Given the description of an element on the screen output the (x, y) to click on. 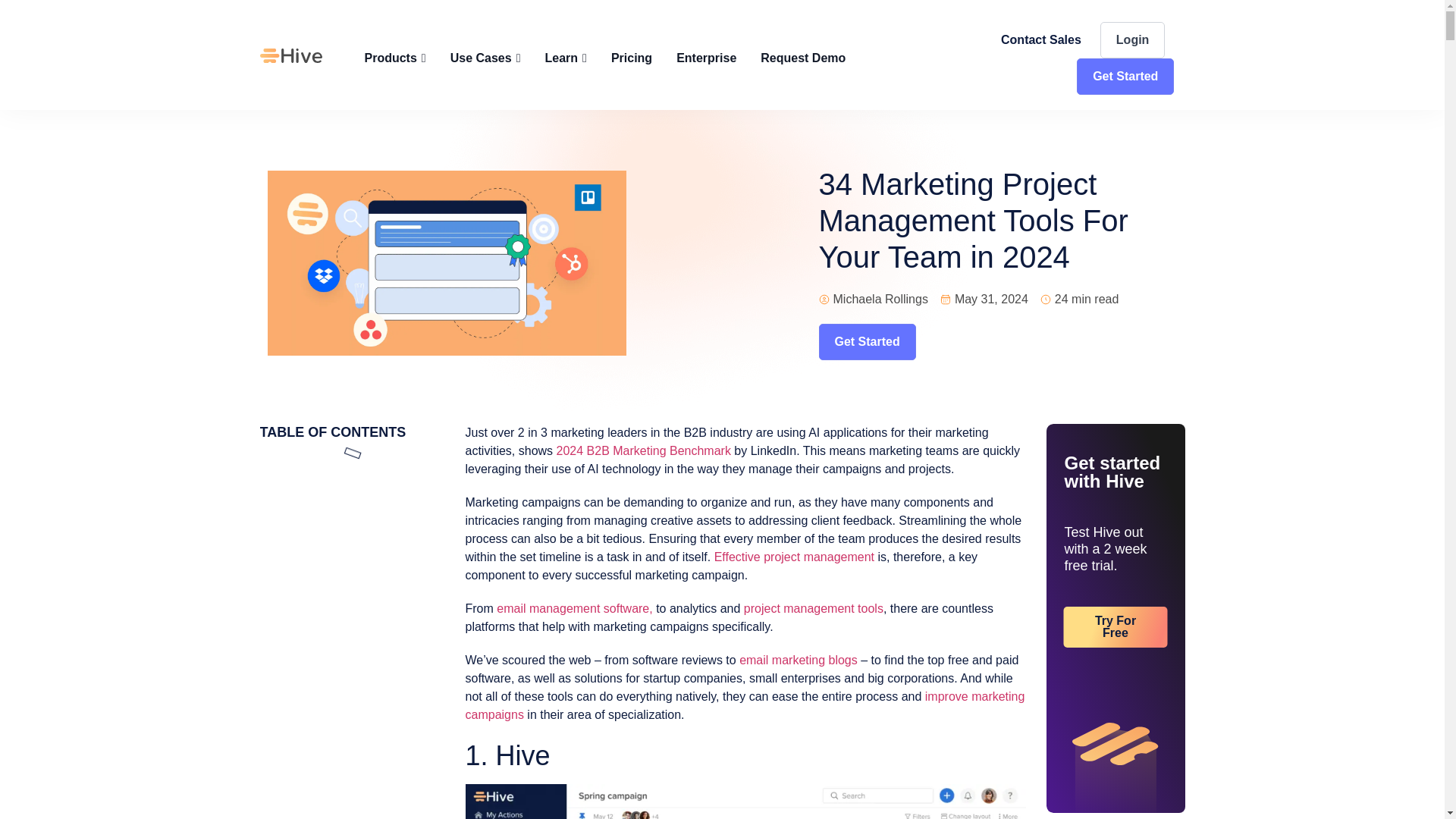
Products (395, 58)
Use Cases (485, 58)
